Given the description of an element on the screen output the (x, y) to click on. 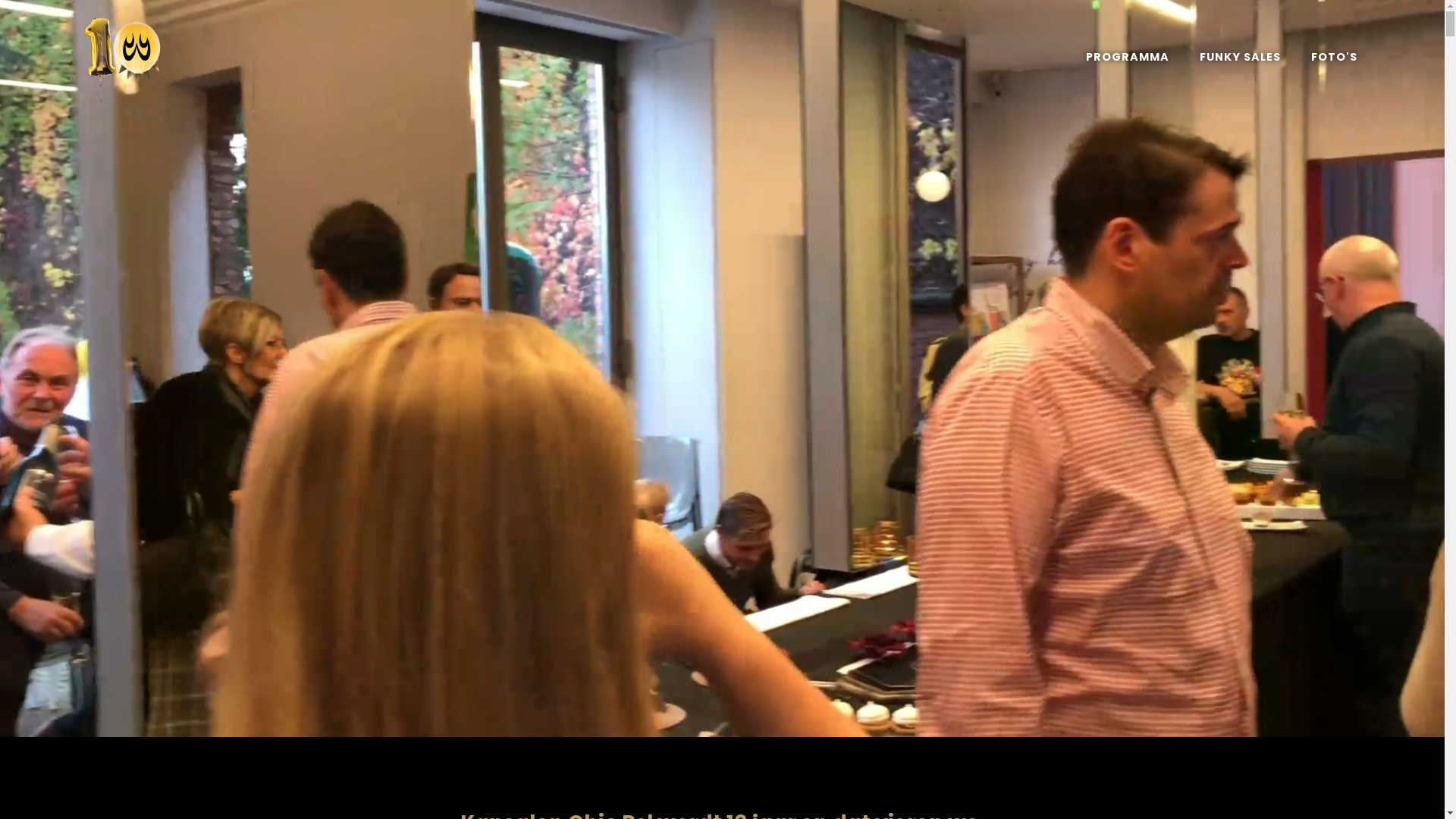
FOTO'S Element type: text (1334, 56)
FUNKY SALES Element type: text (1239, 56)
PROGRAMMA Element type: text (1127, 56)
